Given the description of an element on the screen output the (x, y) to click on. 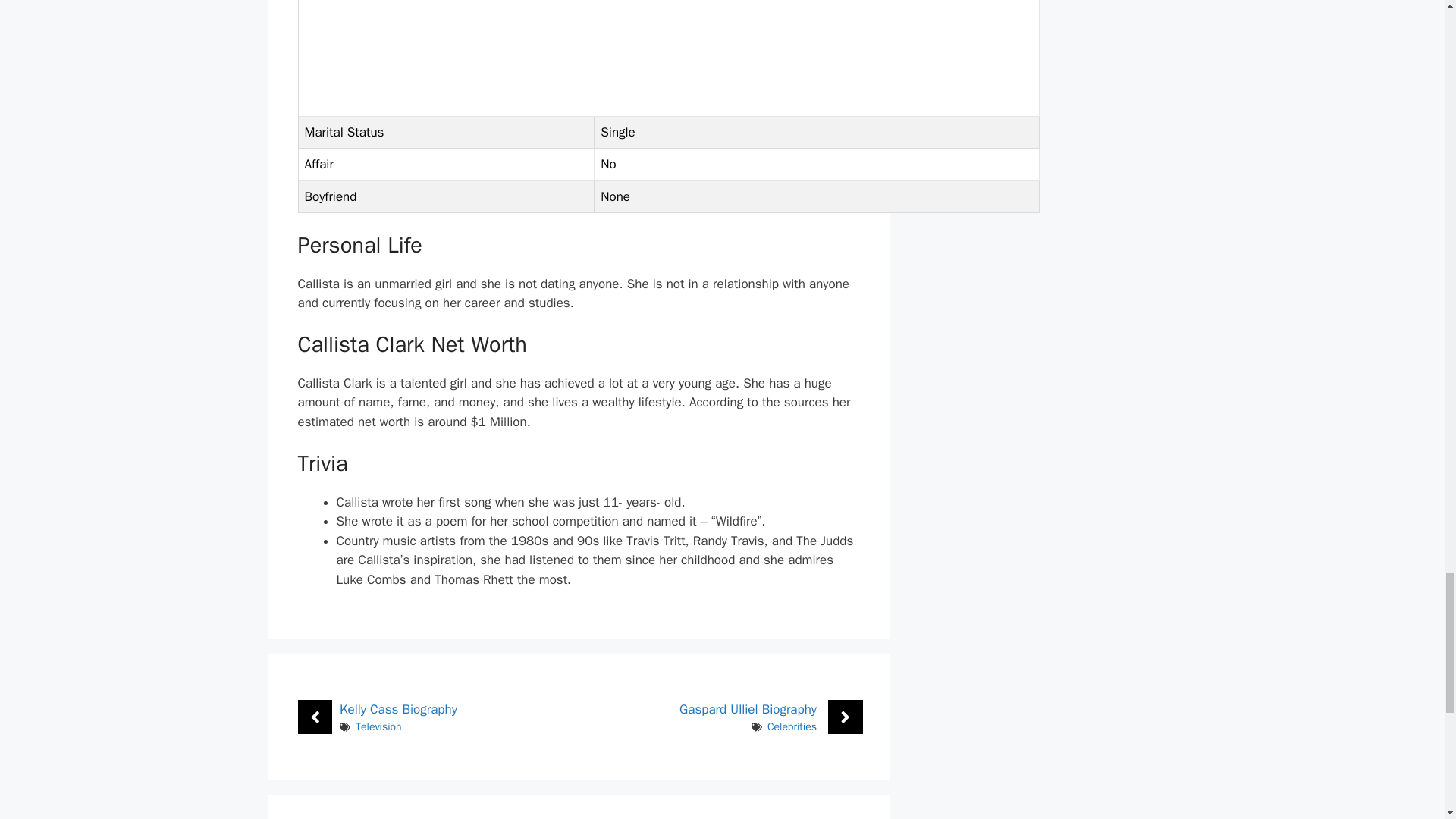
Kelly Cass Biography (398, 709)
Gaspard Ulliel Biography (747, 709)
Celebrities (791, 726)
Television (378, 726)
